Given the description of an element on the screen output the (x, y) to click on. 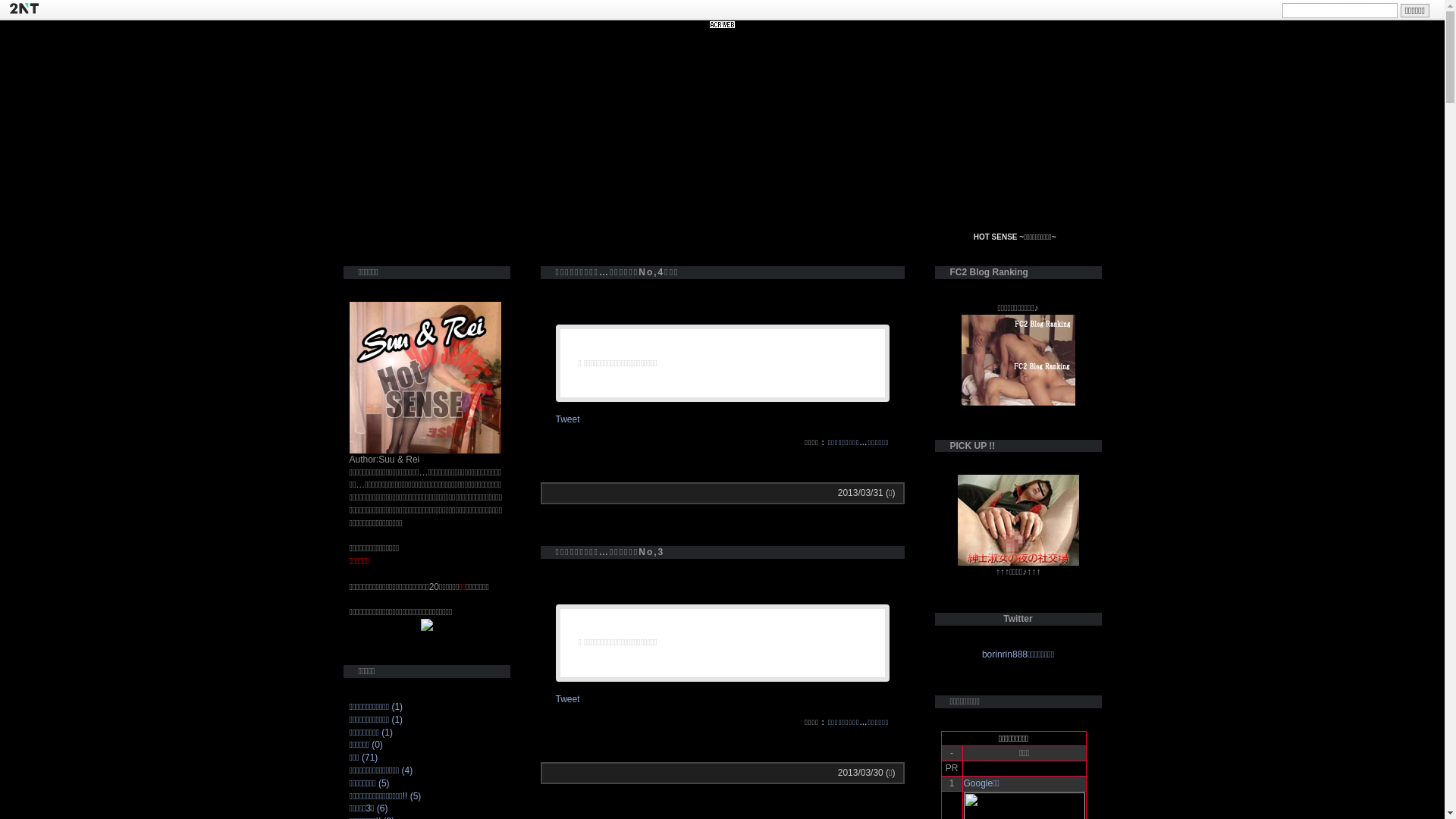
Tweet Element type: text (567, 419)
Tweet Element type: text (567, 698)
